Given the description of an element on the screen output the (x, y) to click on. 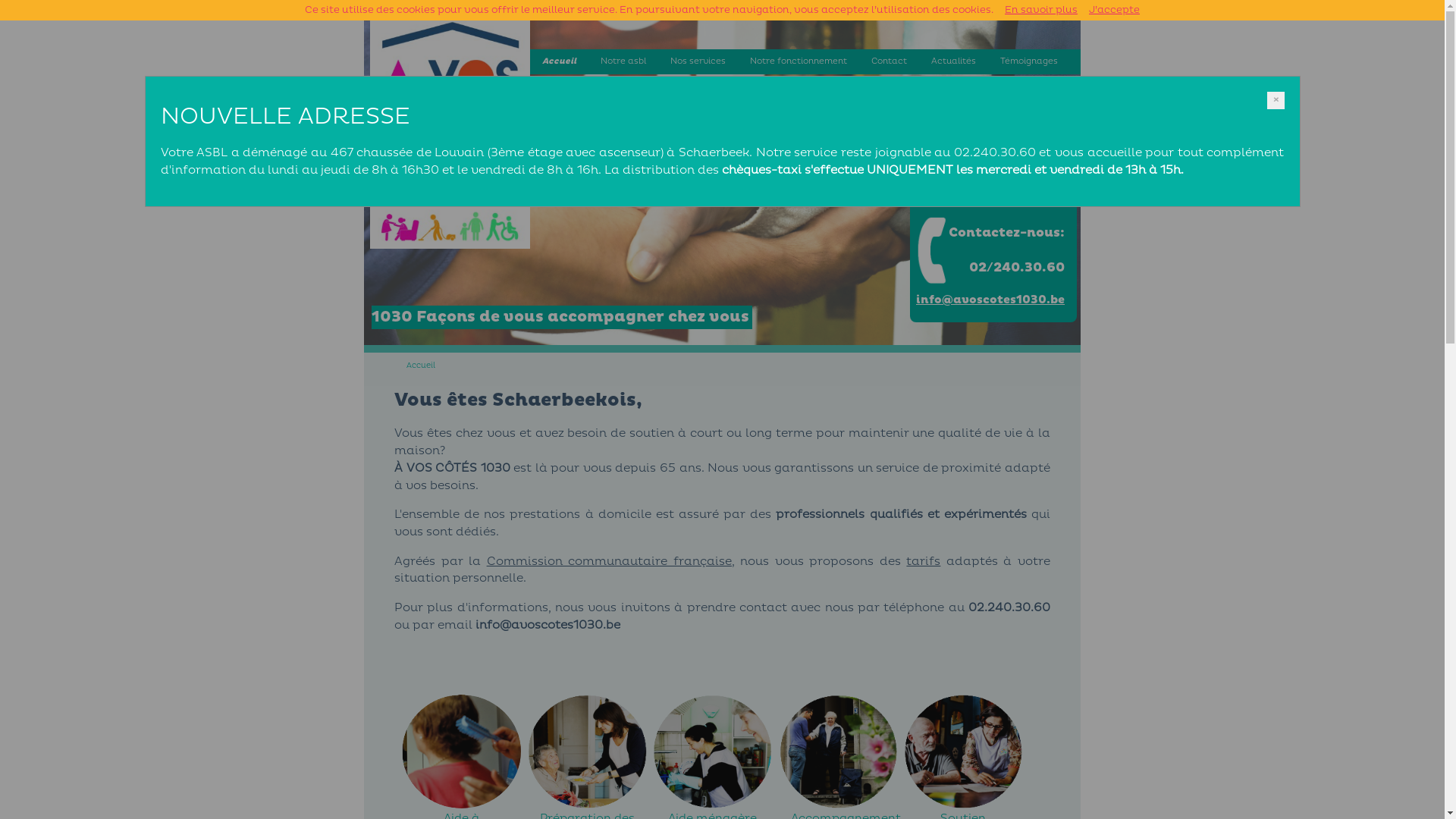
Contact Element type: text (889, 61)
Accueil Element type: text (420, 365)
info@avoscotes1030.be Element type: text (990, 299)
tarifs Element type: text (923, 561)
Notre fonctionnement Element type: text (798, 61)
Notre asbl Element type: text (623, 61)
Accueil Element type: text (559, 61)
En savoir plus Element type: text (1040, 9)
Nos services Element type: text (697, 61)
